Given the description of an element on the screen output the (x, y) to click on. 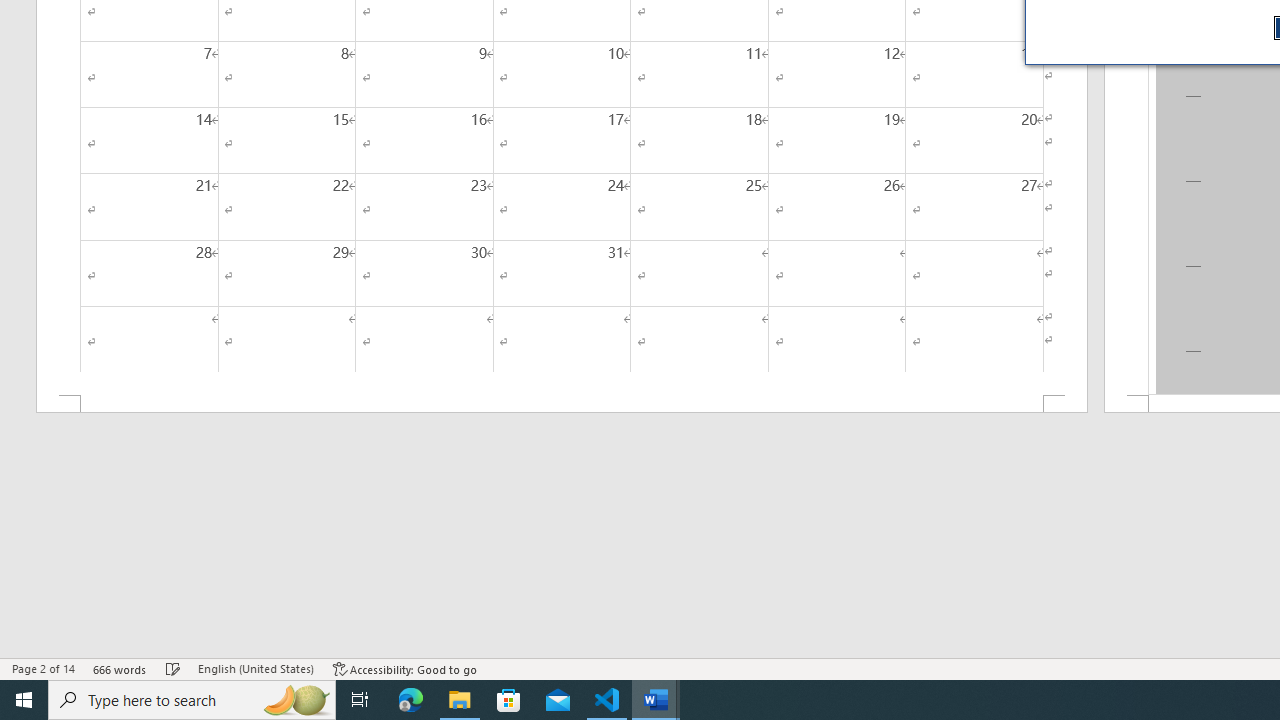
Word - 2 running windows (656, 699)
Microsoft Edge (411, 699)
Page Number Page 2 of 14 (43, 668)
